Given the description of an element on the screen output the (x, y) to click on. 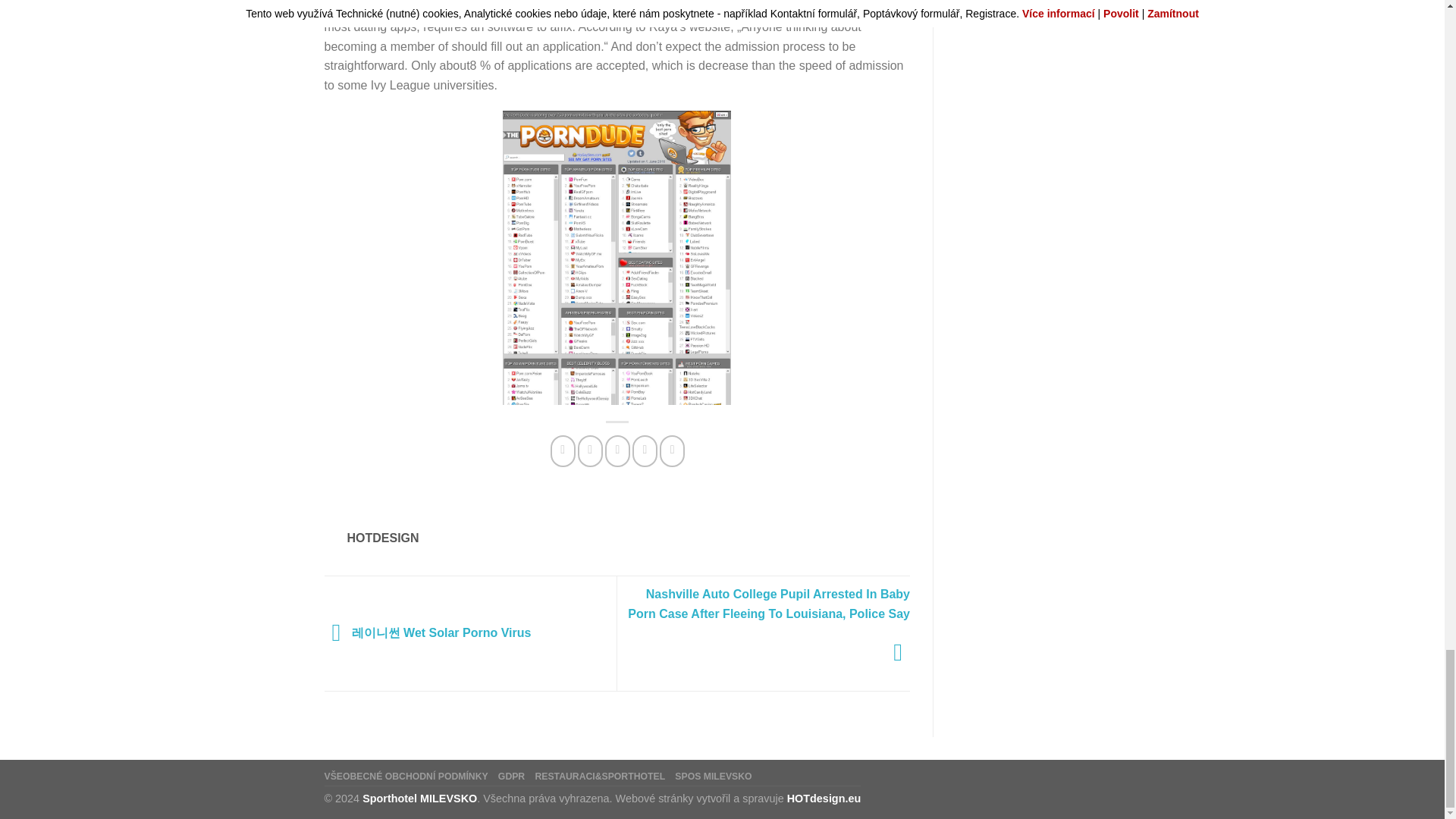
Sporthotel MILEVSKO (419, 798)
SPOS Milevsko (713, 776)
